Given the description of an element on the screen output the (x, y) to click on. 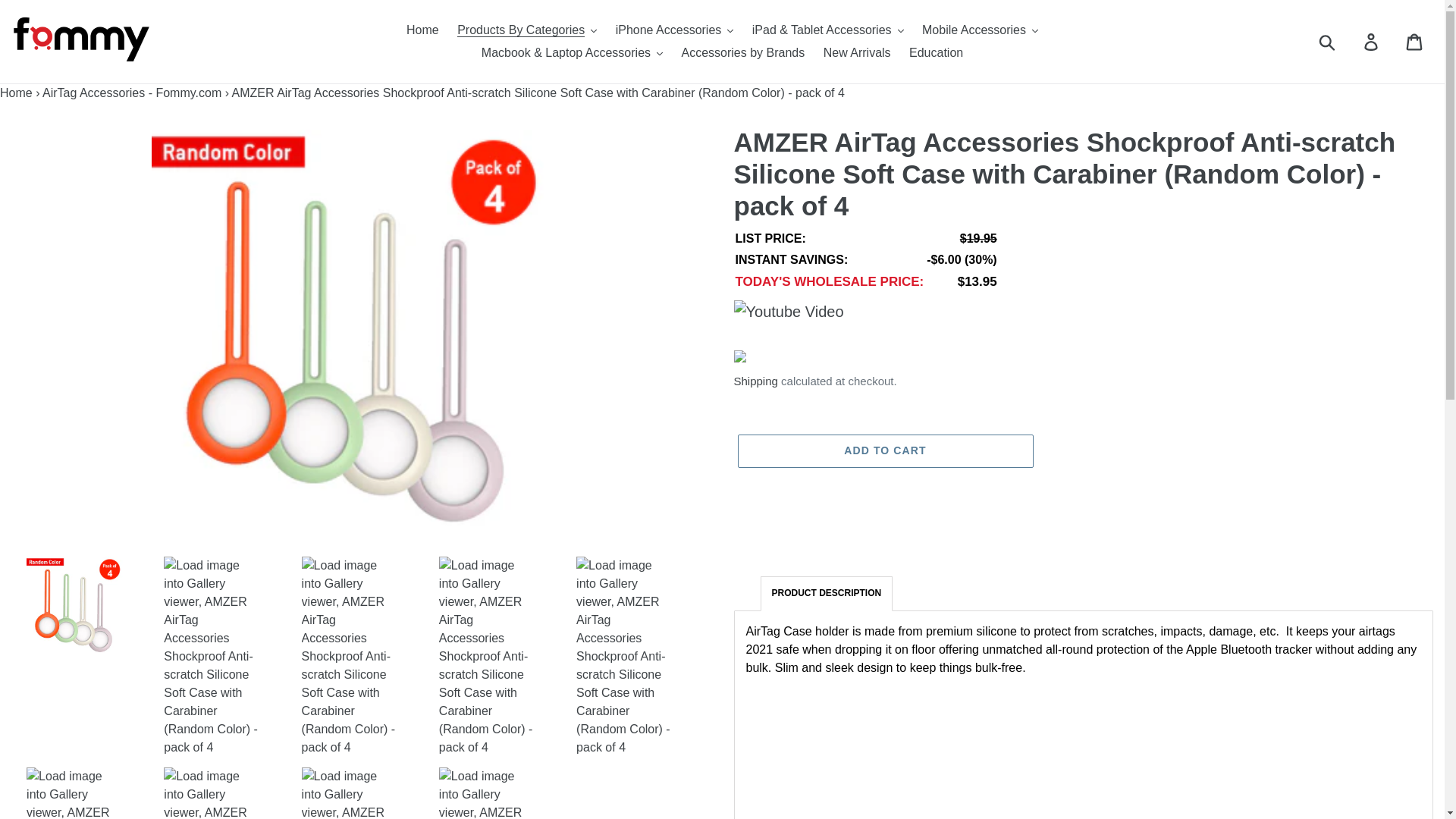
Youtube Video (788, 311)
Home (422, 29)
Home (16, 92)
